Given the description of an element on the screen output the (x, y) to click on. 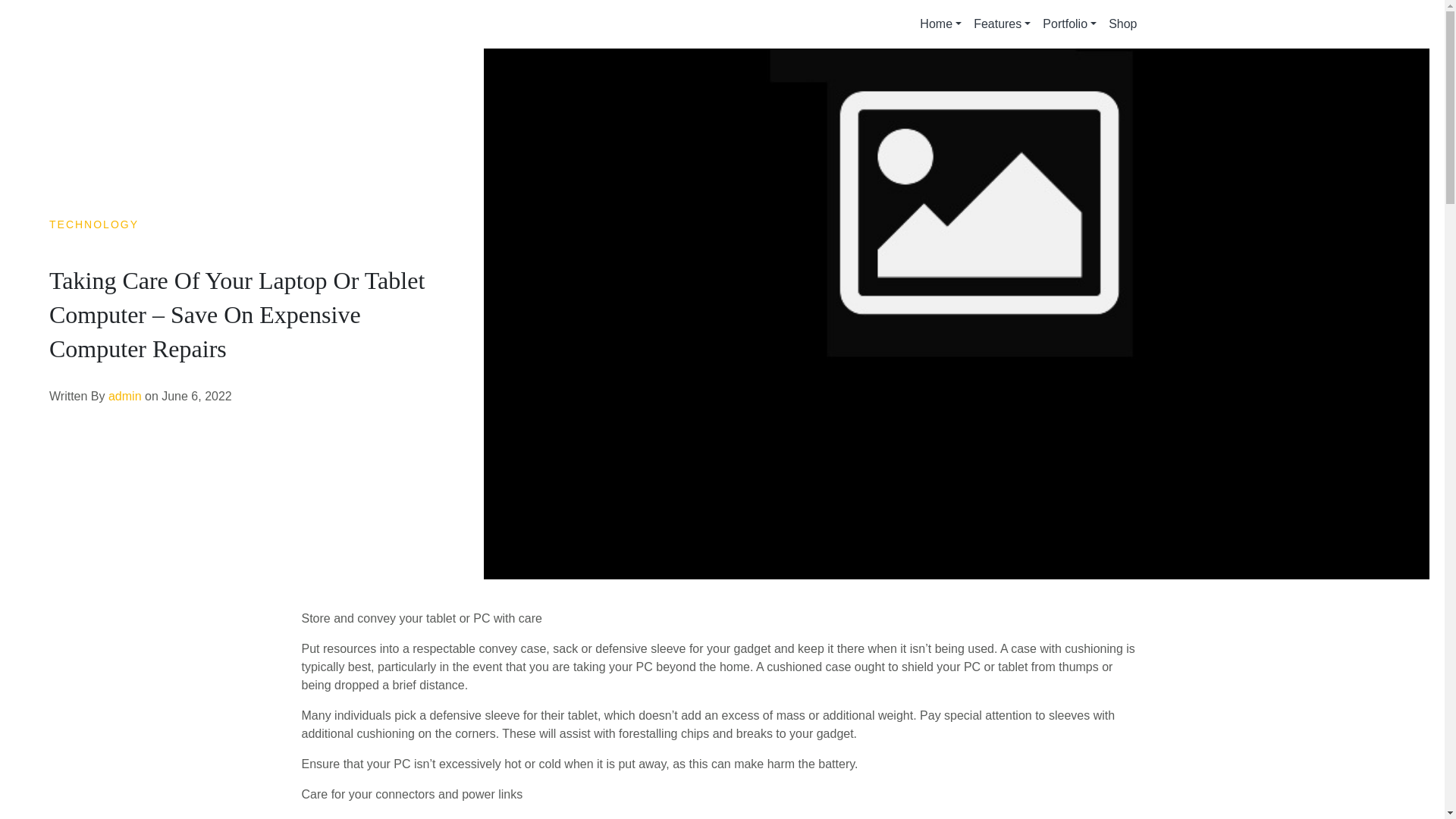
admin (124, 395)
Features (1002, 24)
Home (941, 24)
Shop (1122, 24)
Portfolio (1069, 24)
TECHNOLOGY (93, 224)
Home (941, 24)
Features (1002, 24)
